Given the description of an element on the screen output the (x, y) to click on. 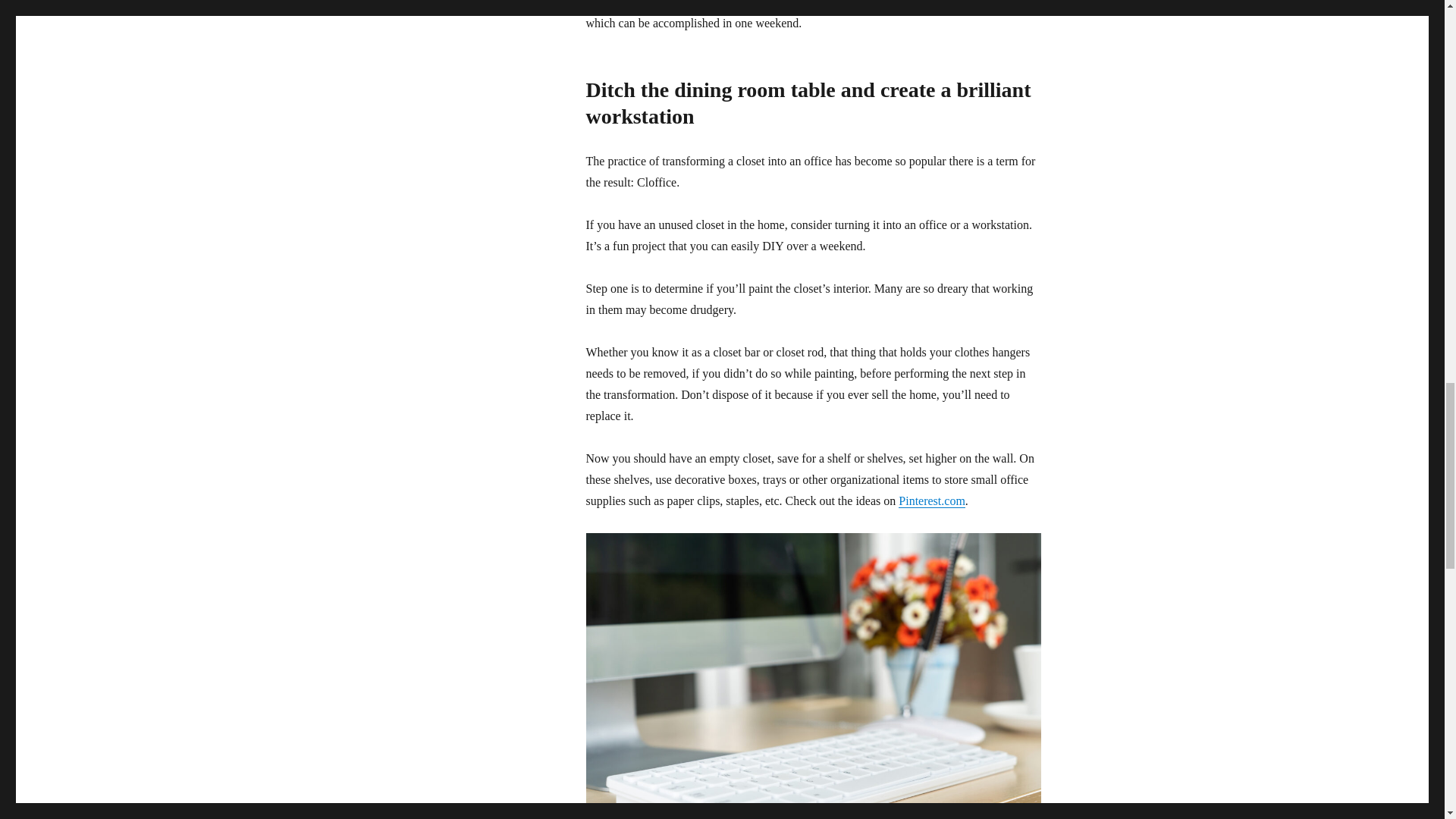
Pinterest.com (931, 500)
